Given the description of an element on the screen output the (x, y) to click on. 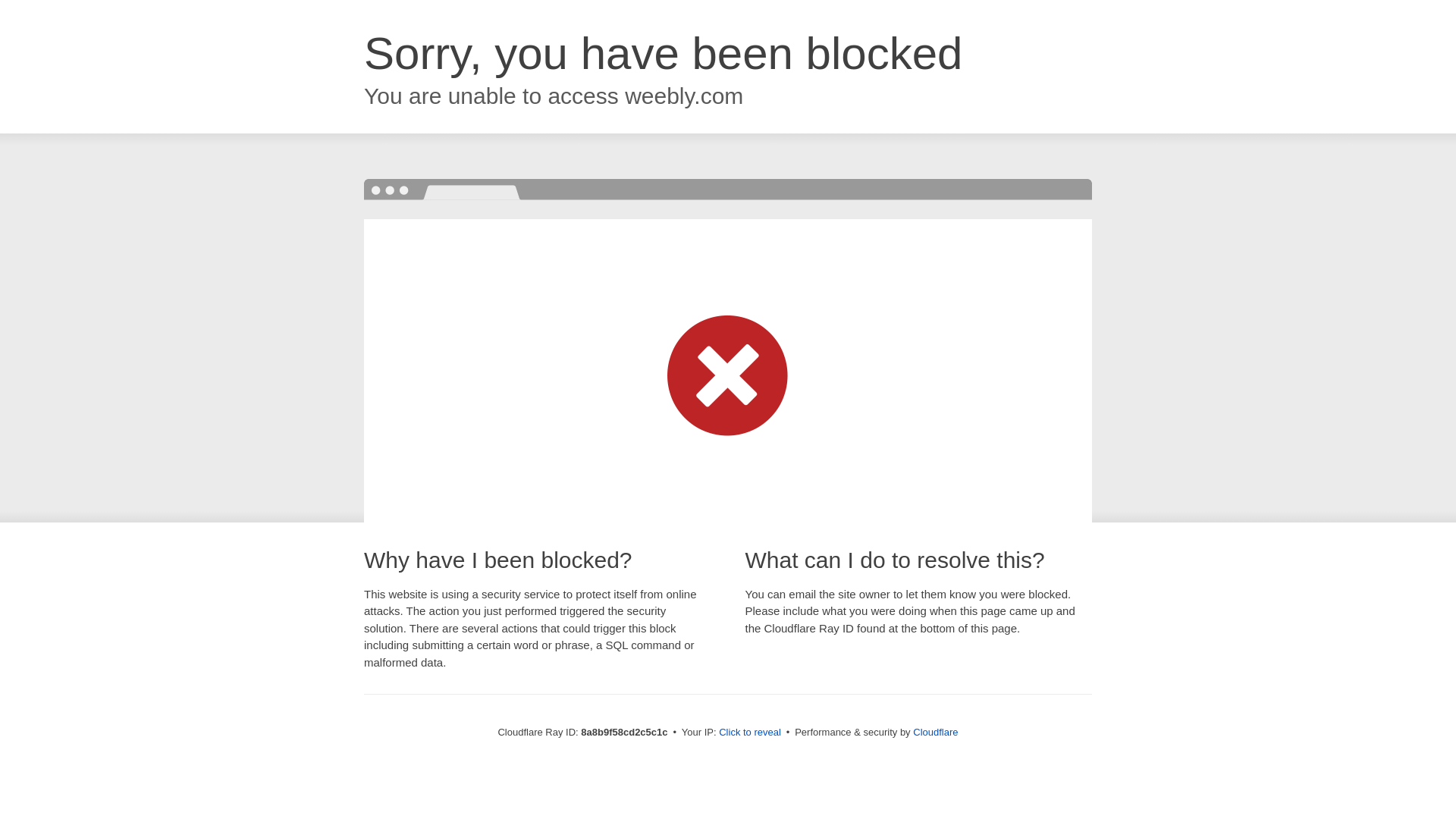
Cloudflare (935, 731)
Click to reveal (749, 732)
